Given the description of an element on the screen output the (x, y) to click on. 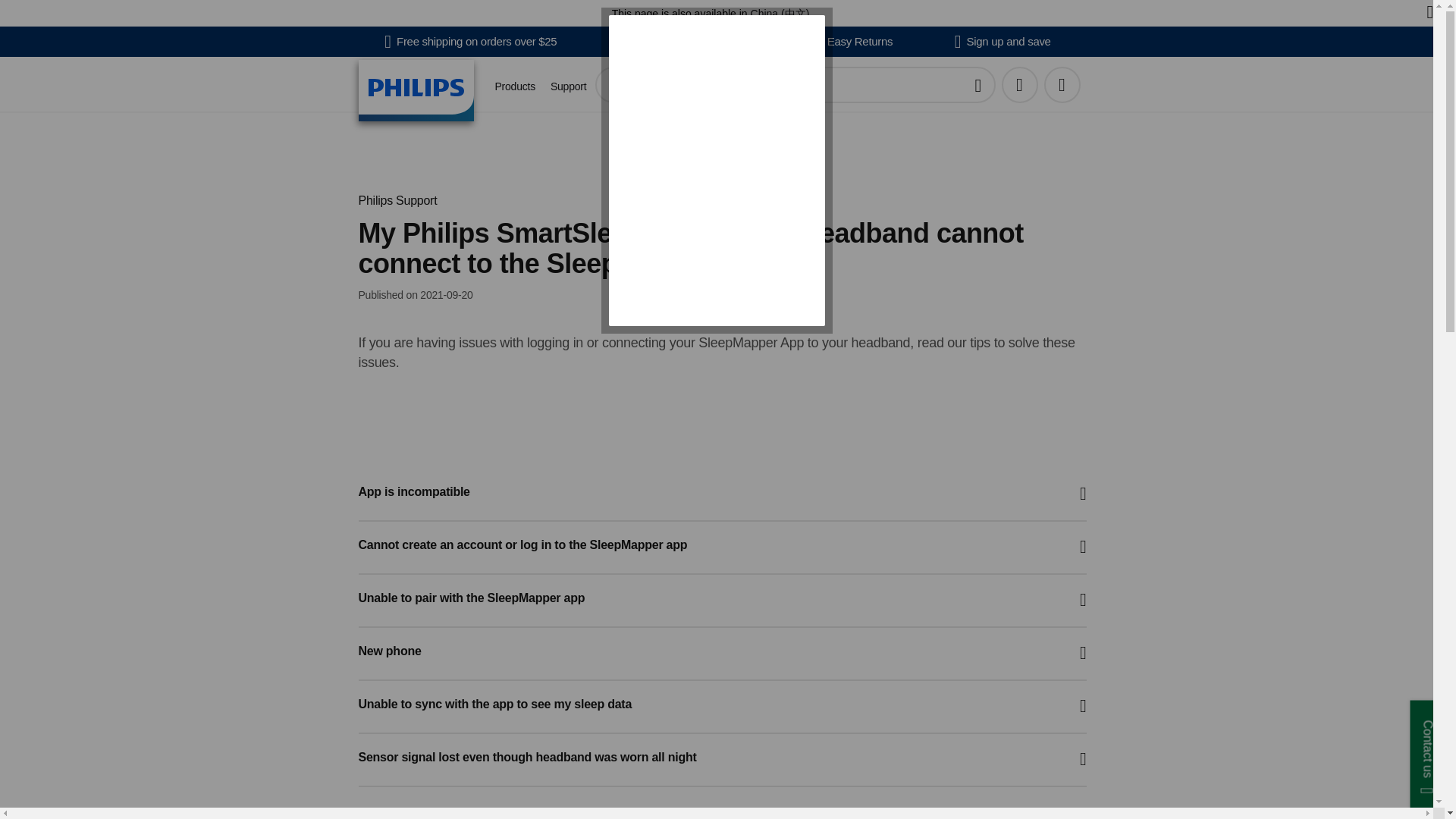
Sign up and save (1003, 41)
Easy Returns (853, 41)
Products (513, 86)
Home (415, 90)
